Given the description of an element on the screen output the (x, y) to click on. 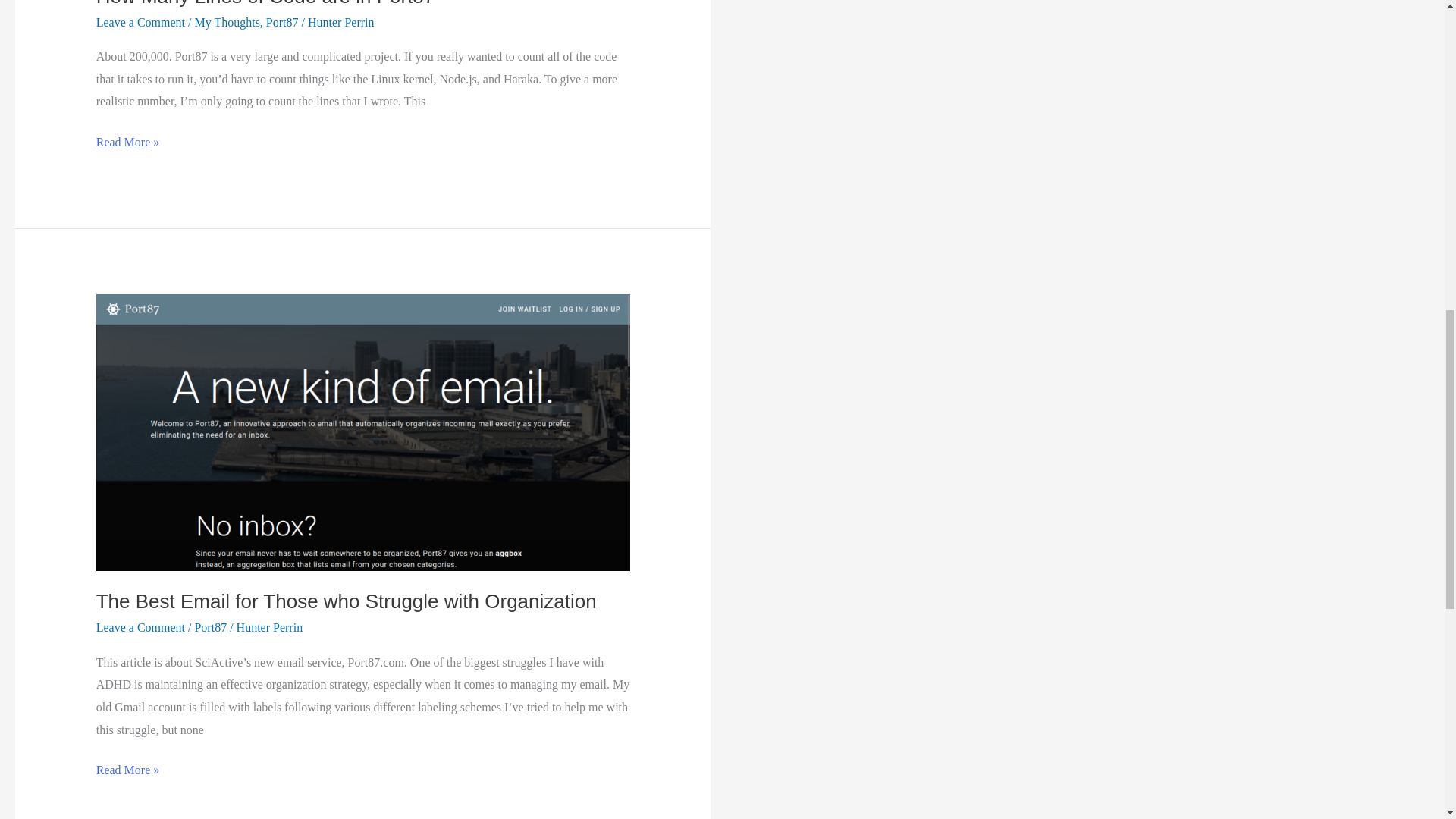
Leave a Comment (140, 21)
Port87 (210, 626)
Port87 (282, 21)
View all posts by Hunter Perrin (268, 626)
View all posts by Hunter Perrin (340, 21)
How Many Lines of Code are in Port87 (265, 3)
My Thoughts (226, 21)
Leave a Comment (140, 626)
Hunter Perrin (340, 21)
The Best Email for Those who Struggle with Organization (346, 600)
Hunter Perrin (268, 626)
